Given the description of an element on the screen output the (x, y) to click on. 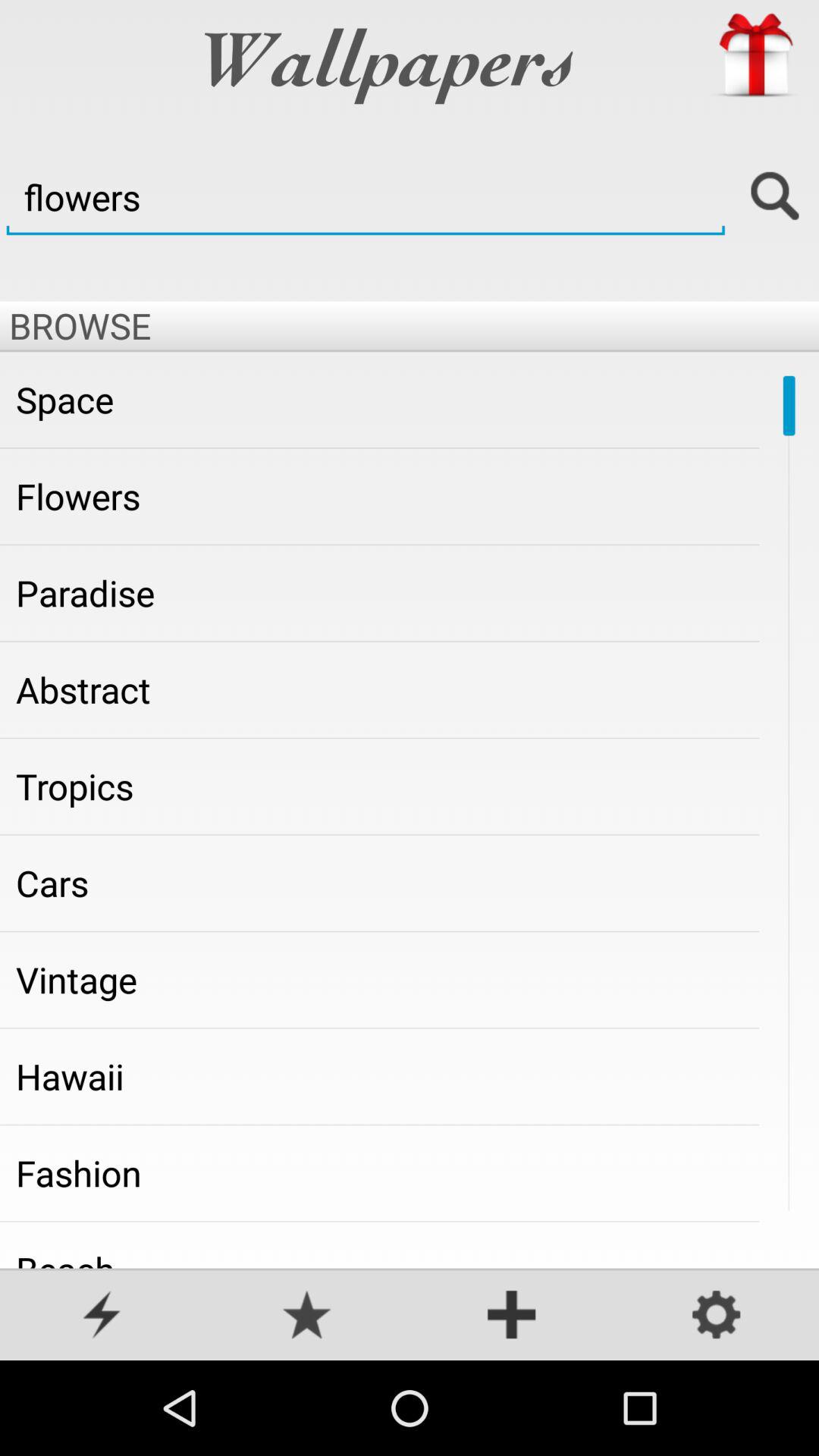
add as favorite (306, 1316)
